Given the description of an element on the screen output the (x, y) to click on. 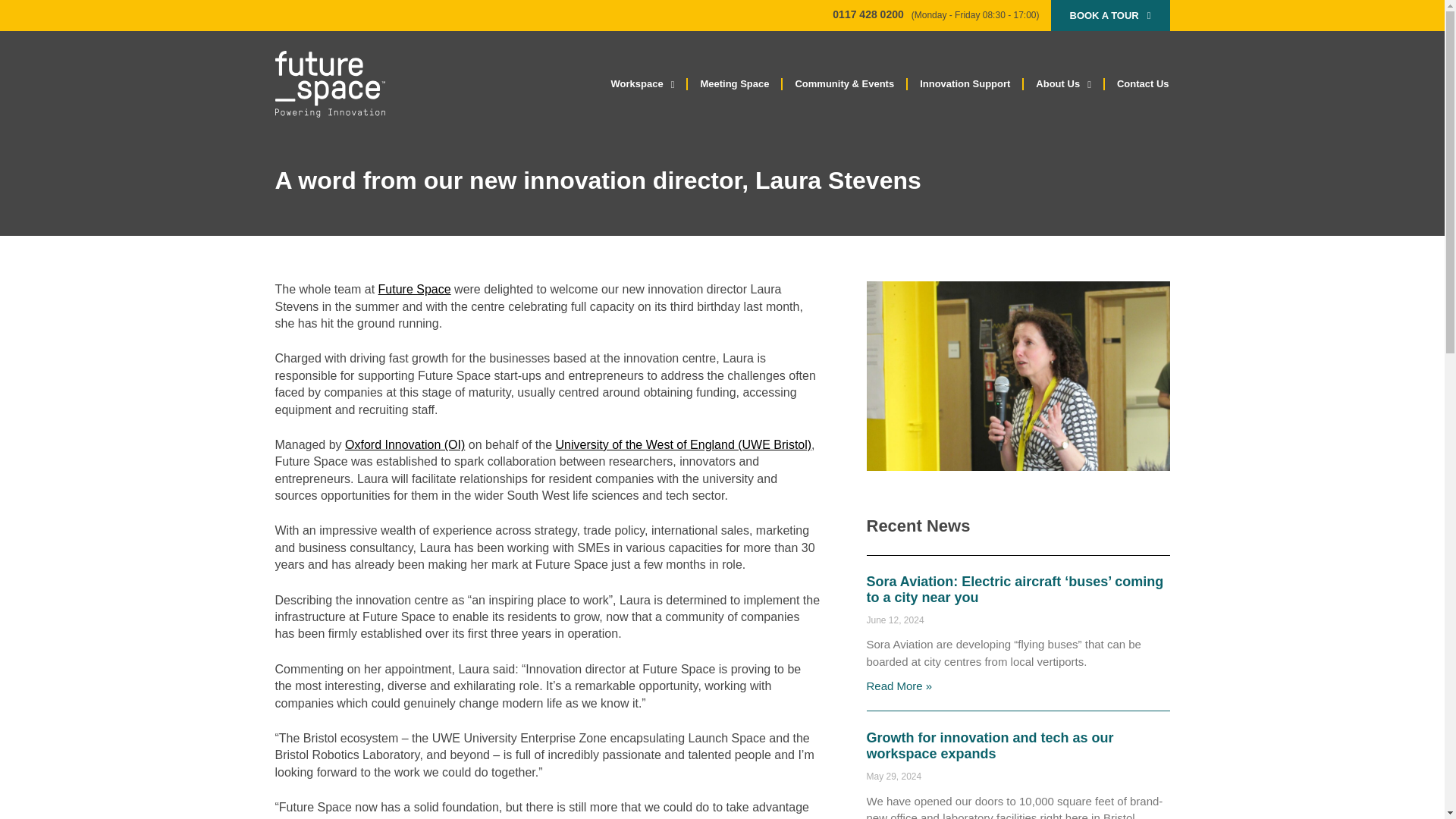
Contact Us (1142, 83)
Future Space (414, 288)
0117 428 0200 (867, 13)
BOOK A TOUR (1110, 15)
Innovation Support (964, 83)
Growth for innovation and tech as our workspace expands (989, 746)
Workspace (642, 83)
Meeting Space (733, 83)
About Us (1063, 83)
